Given the description of an element on the screen output the (x, y) to click on. 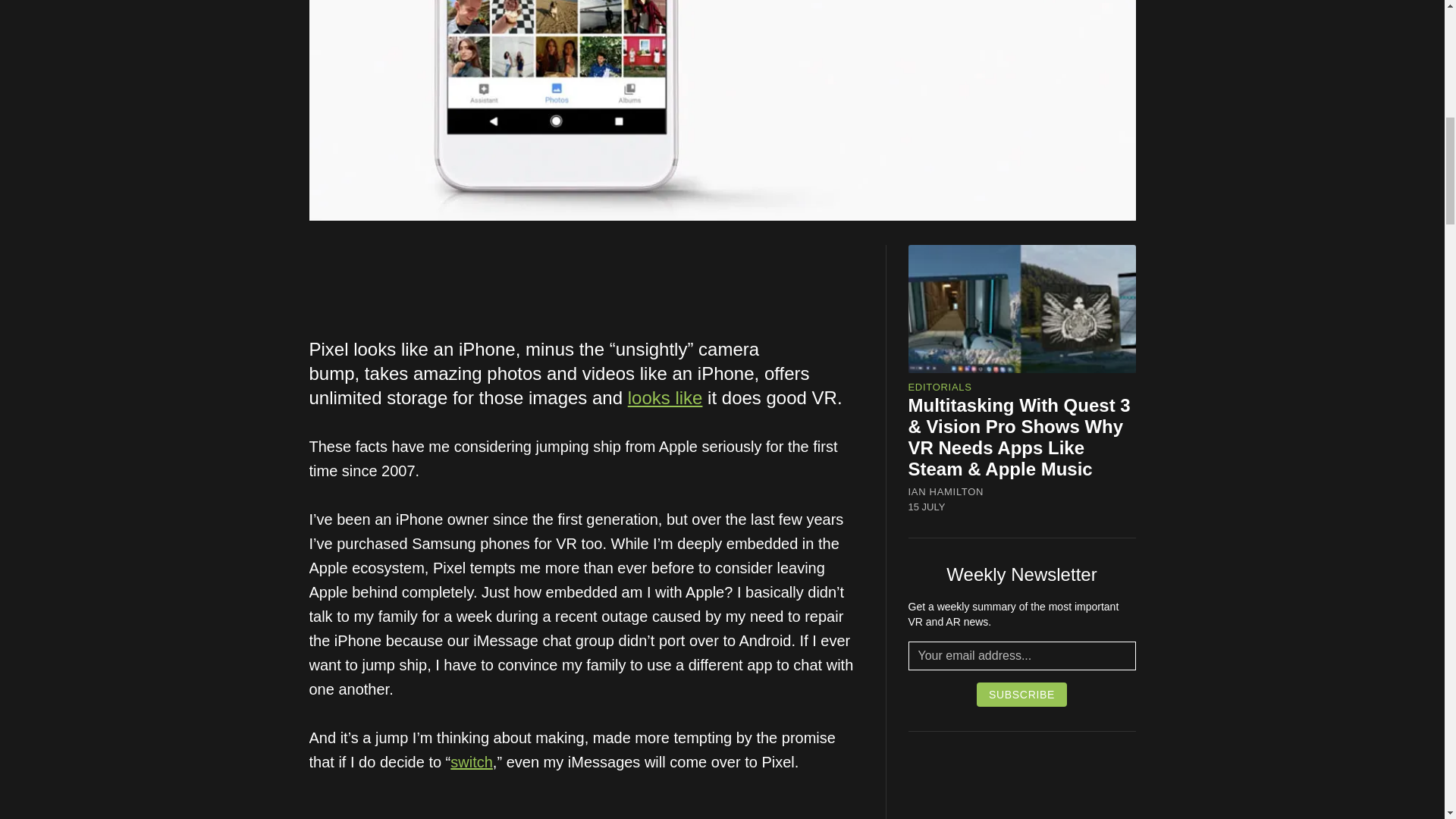
switch (471, 761)
IAN HAMILTON (946, 491)
Subscribe (1021, 694)
Subscribe (1021, 694)
looks like (665, 397)
EDITORIALS (940, 387)
